Given the description of an element on the screen output the (x, y) to click on. 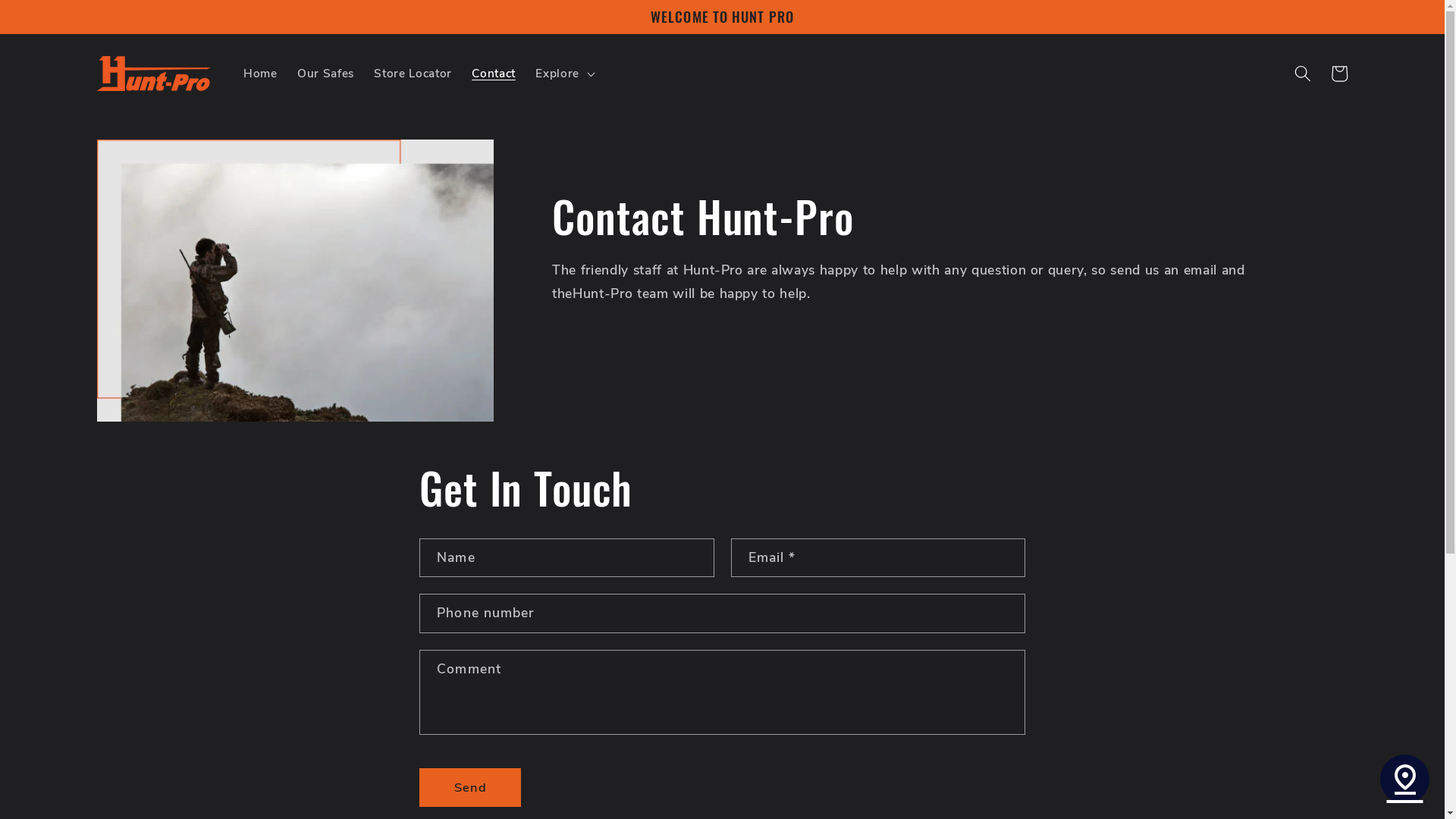
Send Element type: text (469, 787)
Store Locator Element type: text (412, 73)
Home Element type: text (260, 73)
pin_drop Element type: text (1404, 778)
Contact Element type: text (493, 73)
Our Safes Element type: text (325, 73)
Cart Element type: text (1339, 73)
